Given the description of an element on the screen output the (x, y) to click on. 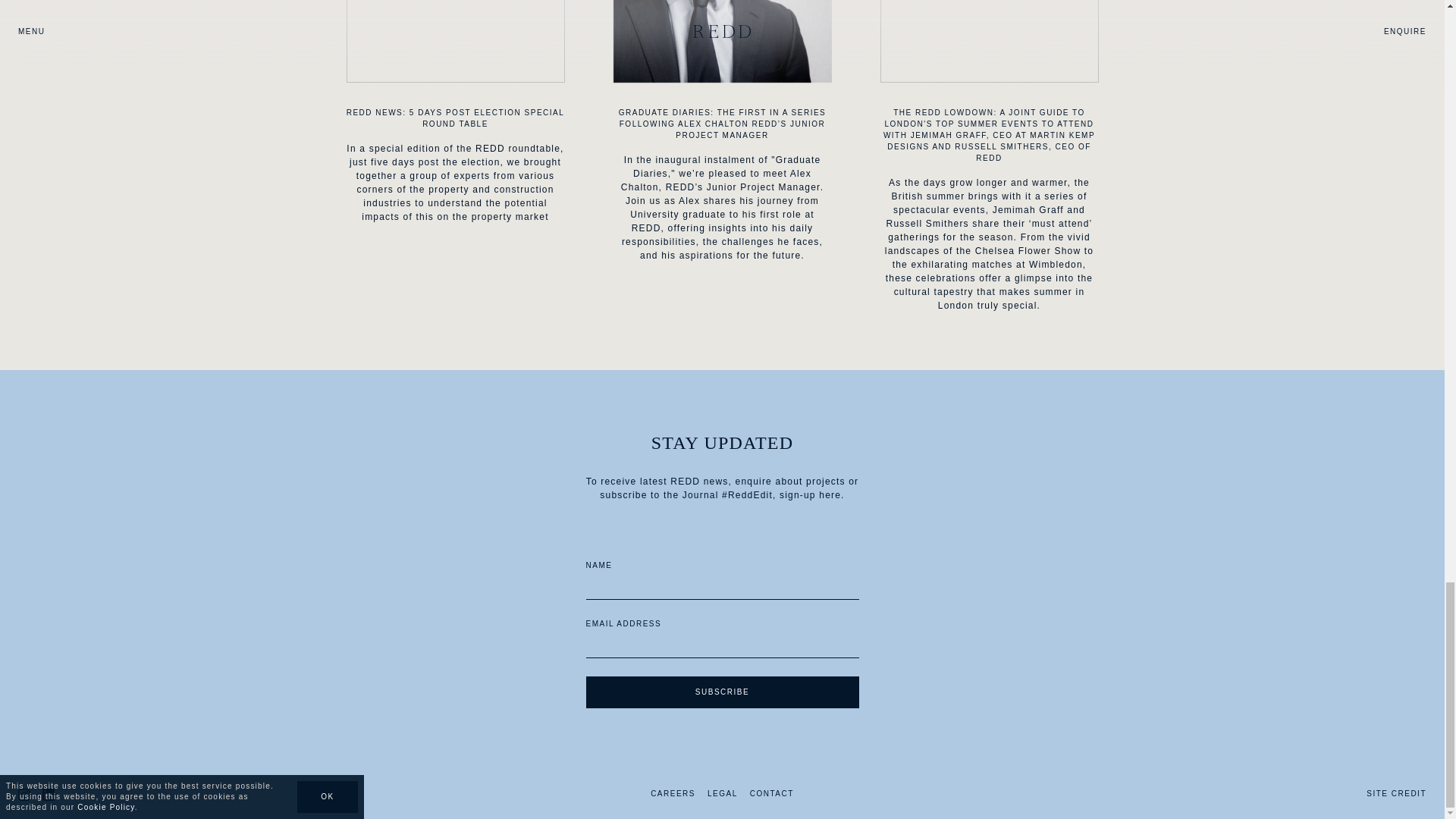
LEGAL (722, 793)
CONTACT (771, 793)
SITE CREDIT (1396, 793)
CAREERS (672, 793)
Subscribe (722, 692)
Subscribe (722, 692)
